Given the description of an element on the screen output the (x, y) to click on. 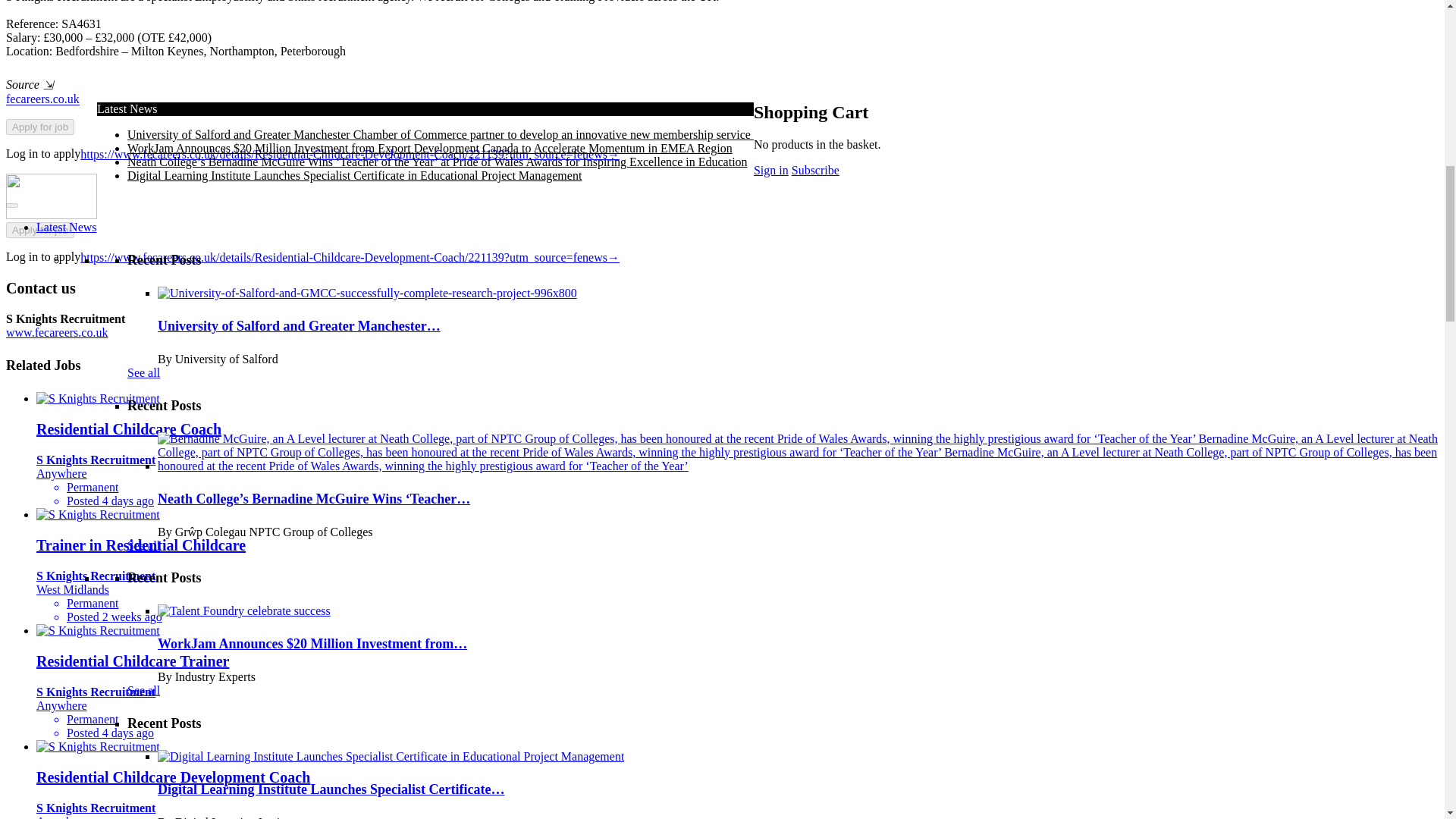
Exclusives (62, 158)
Work and leadership (177, 103)
Skills and Apprenticeships - News and Insights (242, 117)
Sign in (240, 144)
Subscribe (166, 144)
EdTech - News on Education Technology (228, 76)
See all (144, 304)
Apply for job (39, 229)
See all (144, 16)
See all (144, 753)
Apply for job (39, 126)
